Given the description of an element on the screen output the (x, y) to click on. 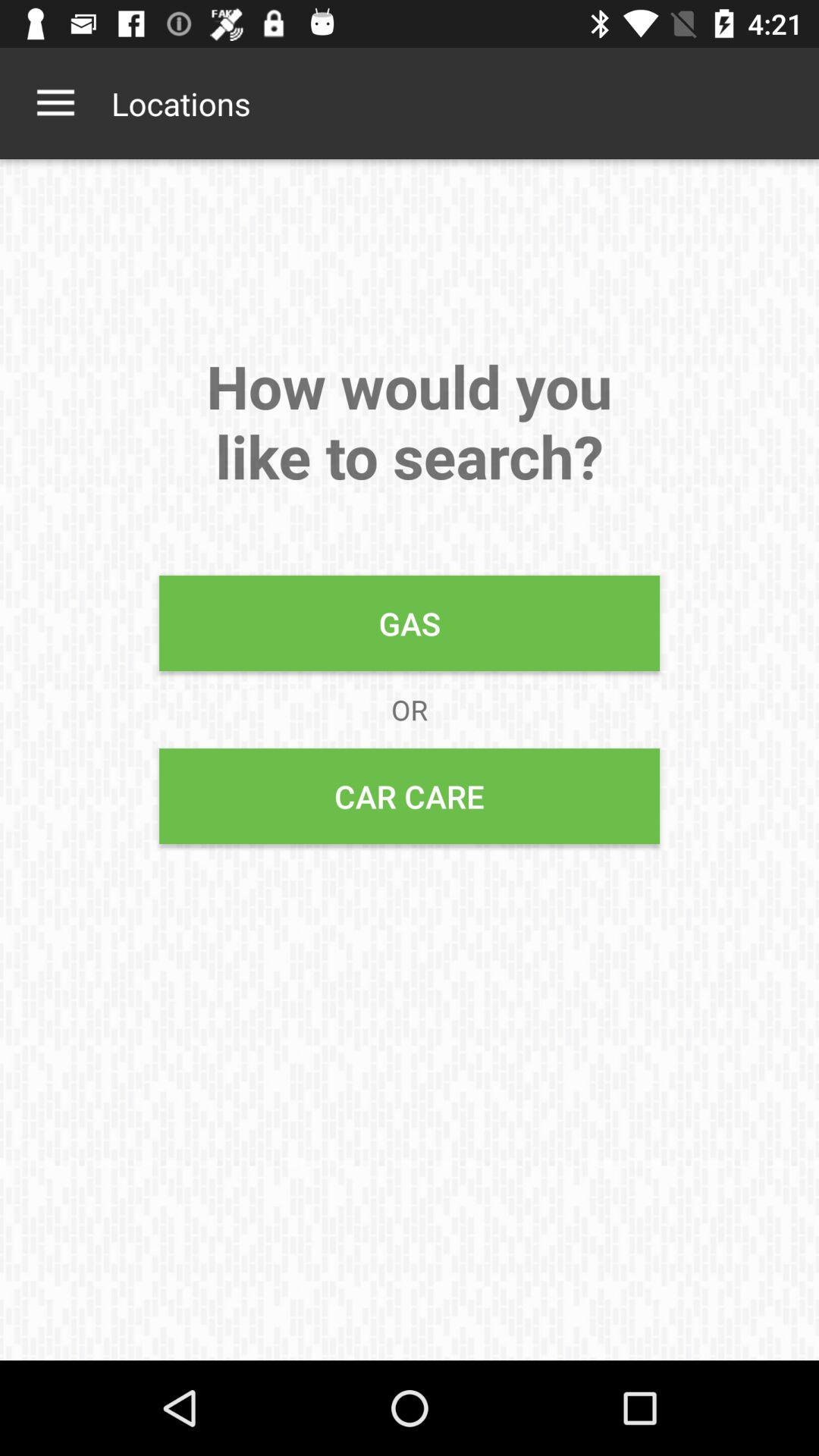
swipe to gas item (409, 623)
